Given the description of an element on the screen output the (x, y) to click on. 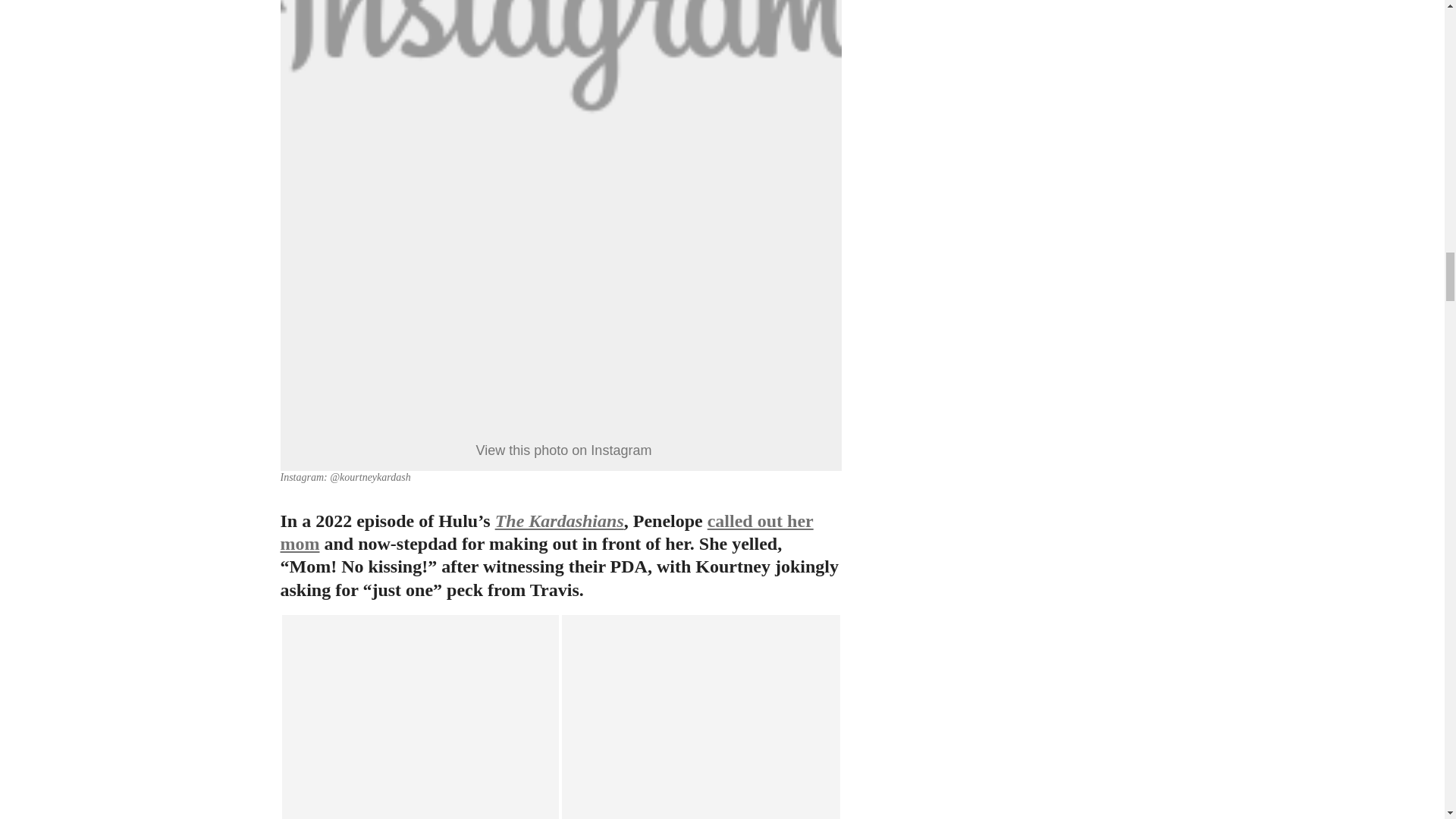
called out her mom (547, 532)
The Kardashians (559, 520)
